Given the description of an element on the screen output the (x, y) to click on. 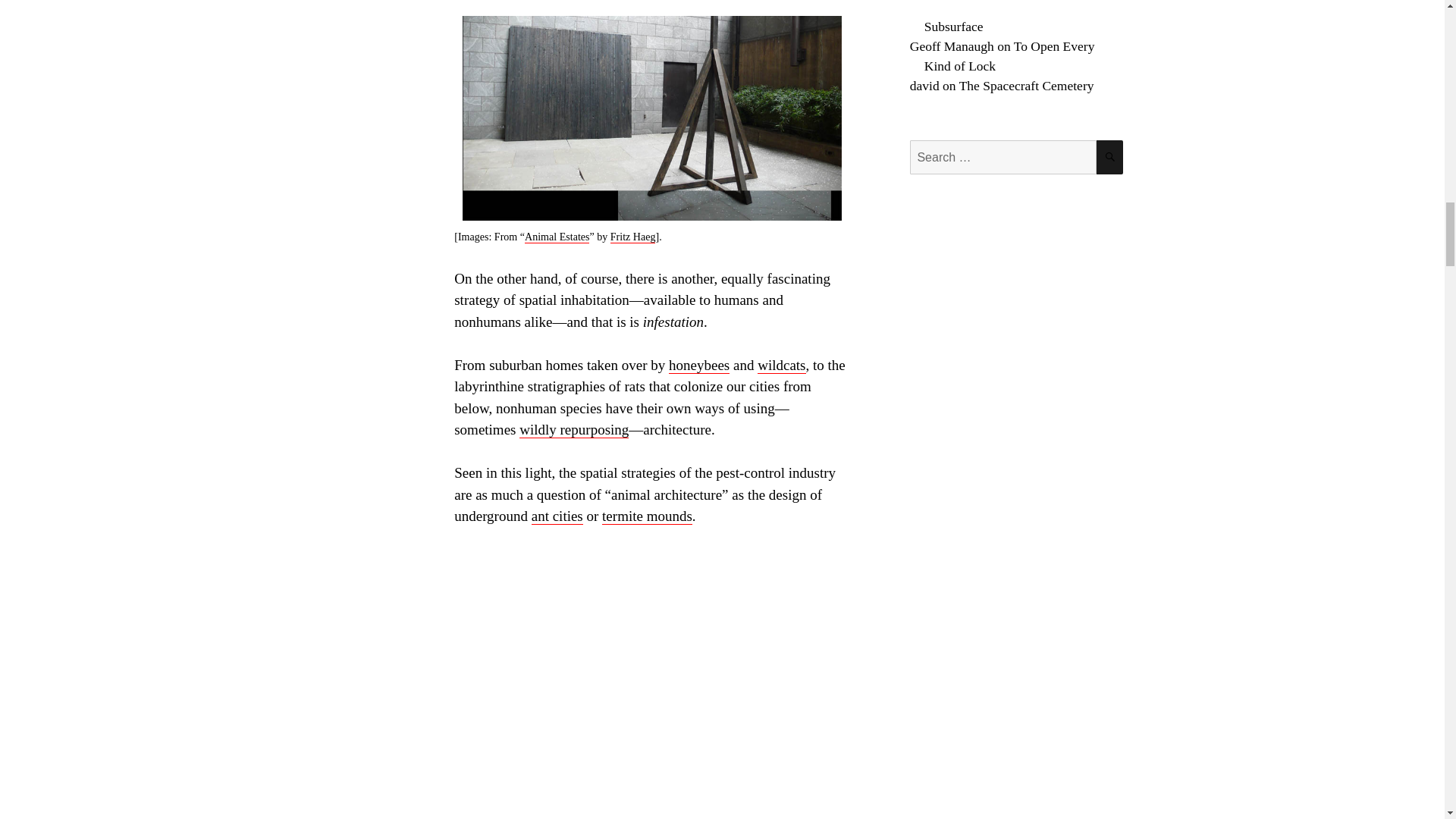
Animal Estates (556, 236)
Fritz Haeg (633, 236)
honeybees (698, 365)
wildly repurposing (573, 429)
ant cities (557, 515)
wildcats (781, 365)
termite mounds (647, 515)
YouTube video player (643, 683)
